Given the description of an element on the screen output the (x, y) to click on. 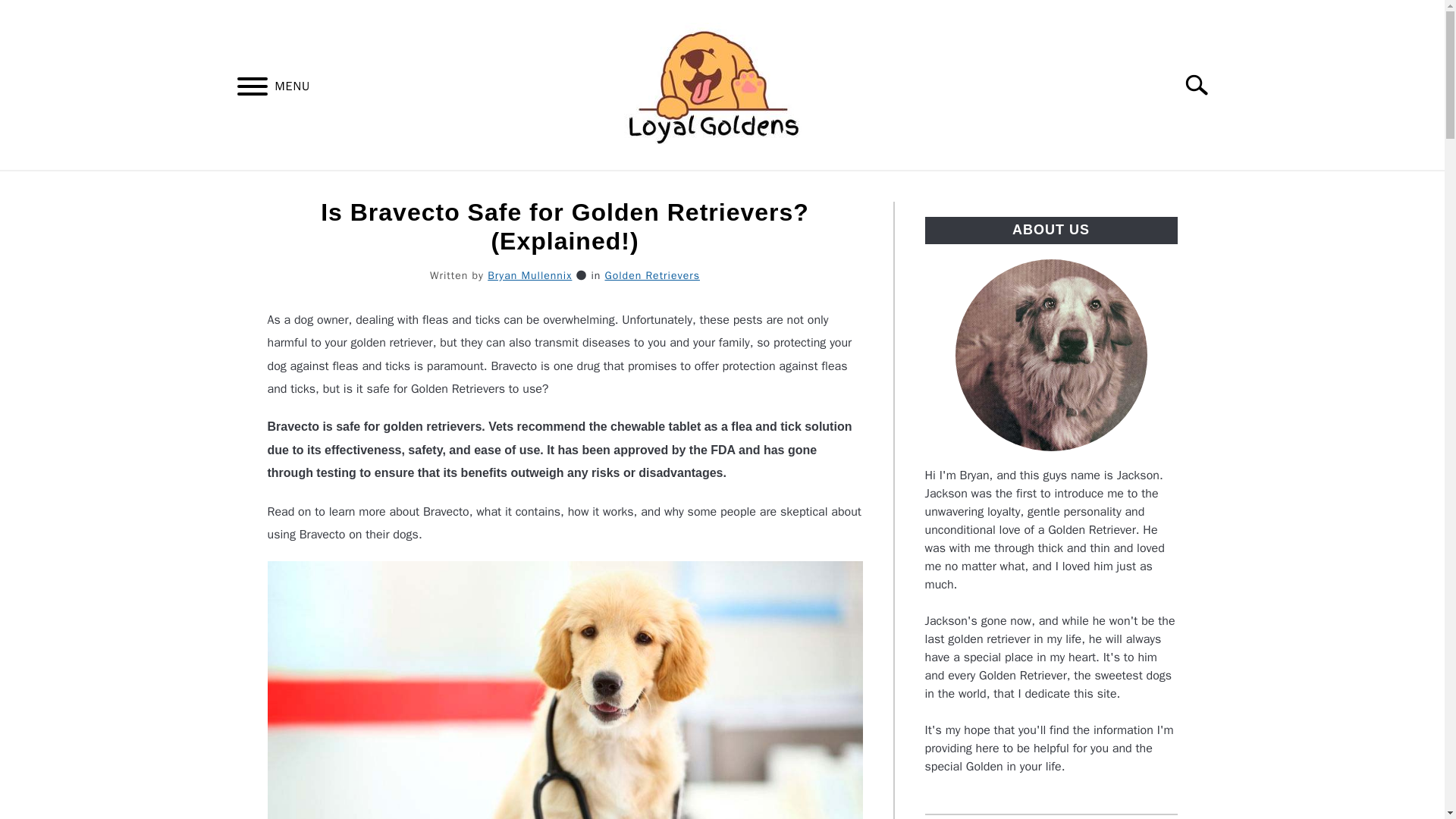
Search (1203, 84)
Bryan Mullennix (529, 275)
MENU (251, 89)
Golden Retrievers (651, 275)
